Given the description of an element on the screen output the (x, y) to click on. 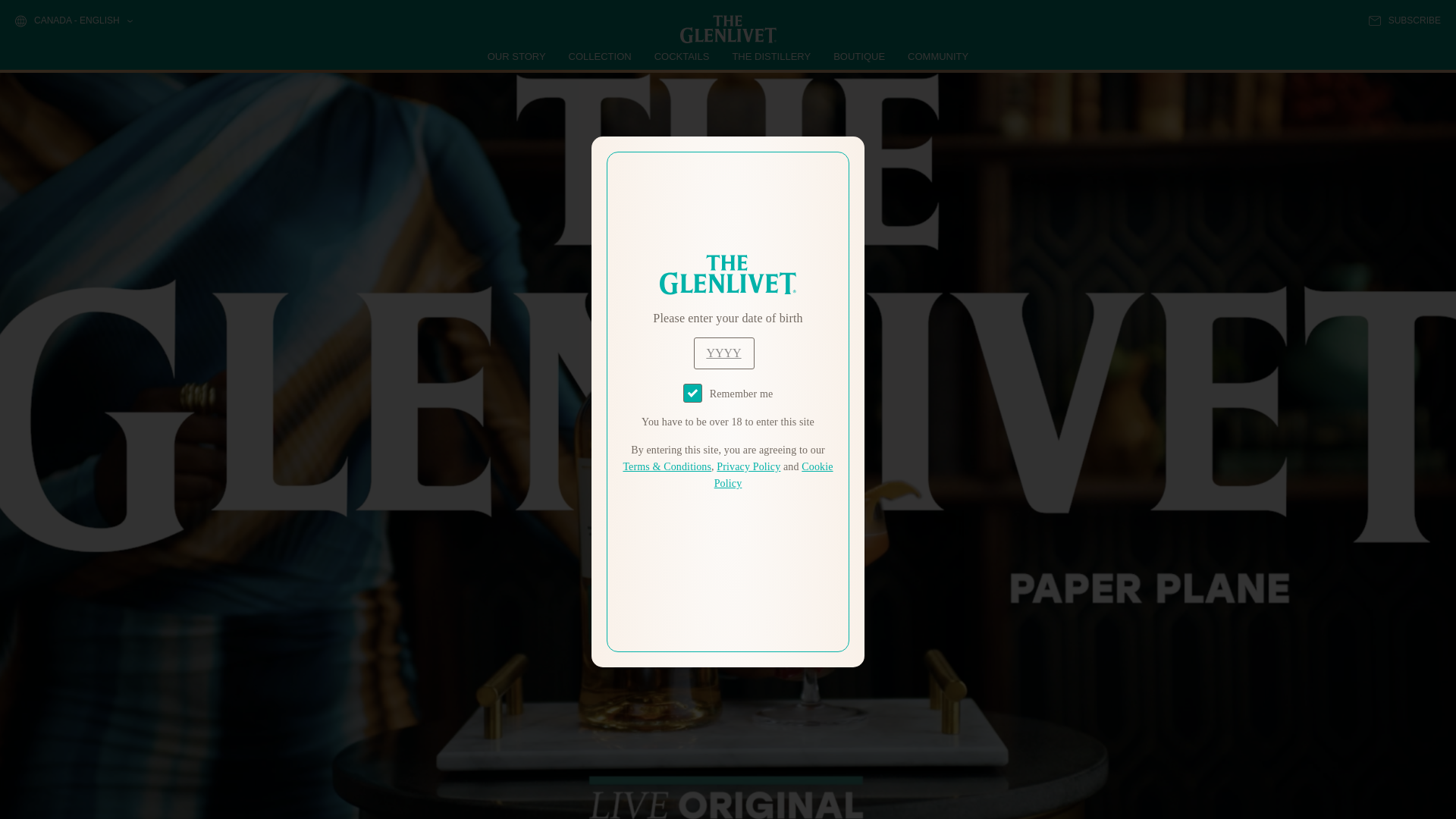
Cookie Policy (773, 474)
SUBSCRIBE (1404, 20)
year (723, 353)
COMMUNITY (937, 56)
COCKTAILS (681, 56)
COLLECTION (600, 56)
OUR STORY (516, 56)
Privacy Policy (748, 466)
THE DISTILLERY (771, 56)
CANADA - ENGLISH (73, 21)
BOUTIQUE (858, 56)
